Given the description of an element on the screen output the (x, y) to click on. 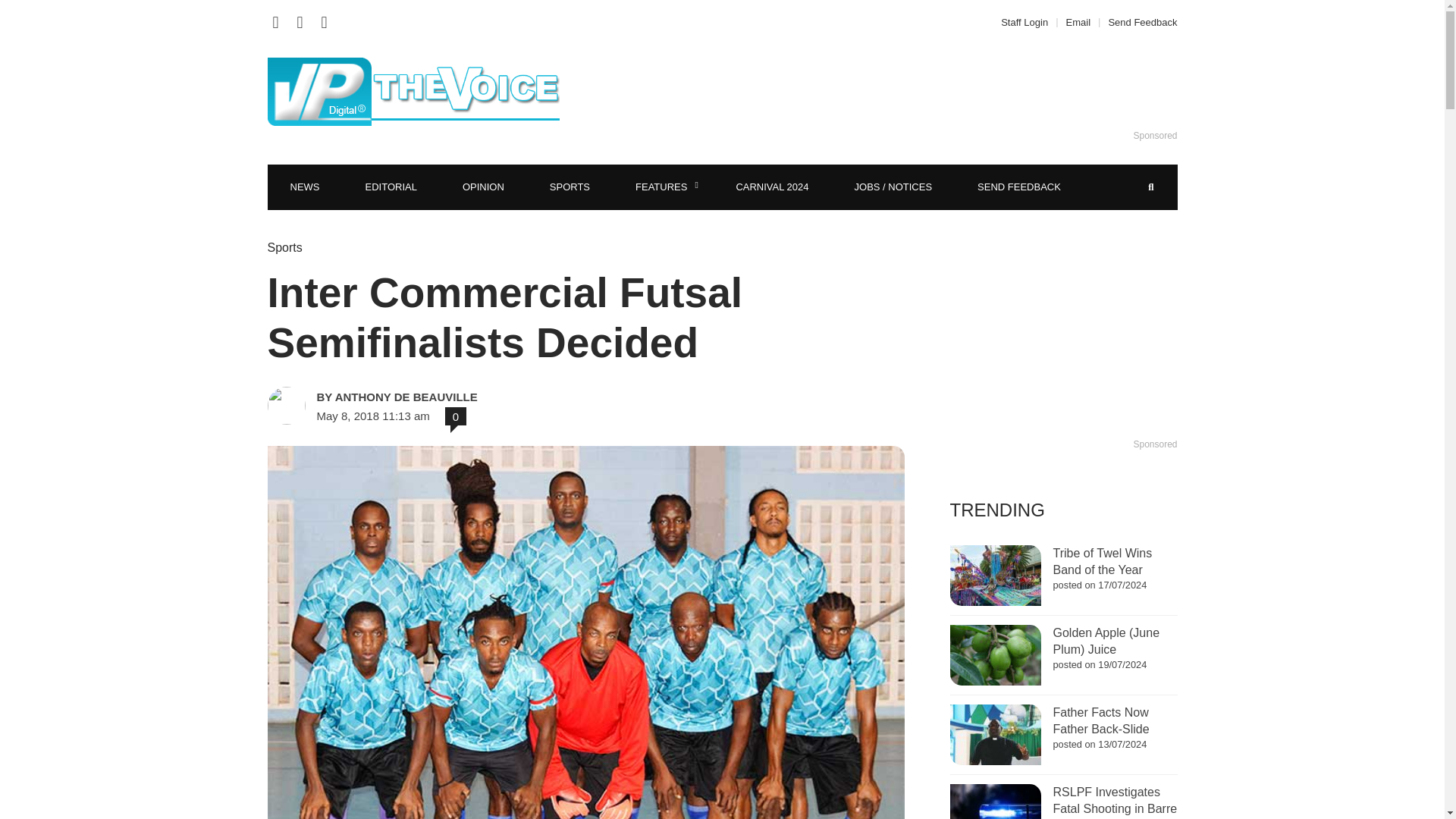
Sports (283, 246)
Staff Login (1028, 21)
NEWS (304, 186)
Advertisement (906, 91)
ANTHONY DE BEAUVILLE (422, 396)
CARNIVAL 2024 (772, 186)
EDITORIAL (390, 186)
Email (1078, 21)
Send Feedback (1138, 21)
FEATURES (662, 186)
View all posts by Anthony De Beauville (422, 396)
SPORTS (569, 186)
OPINION (483, 186)
SEND FEEDBACK (1019, 186)
